Given the description of an element on the screen output the (x, y) to click on. 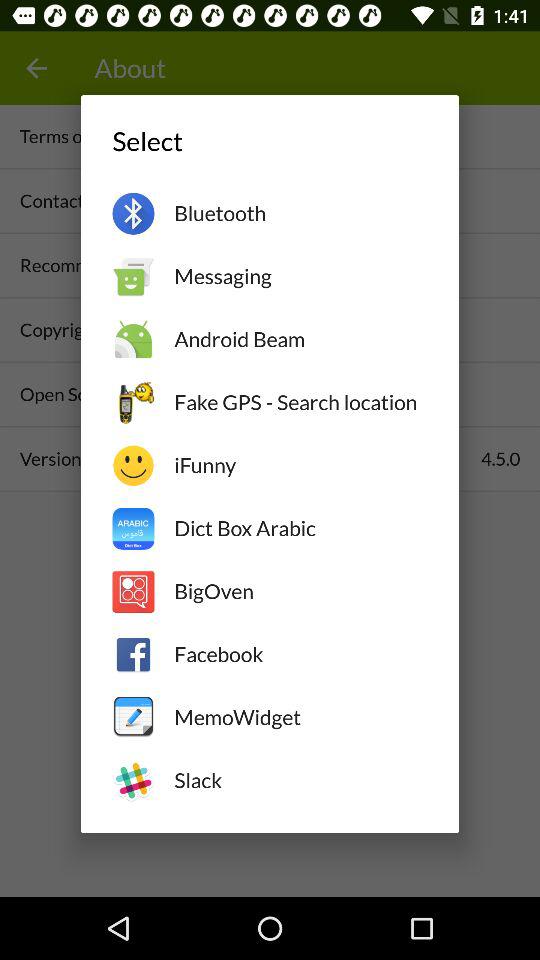
launch fake gps search (300, 402)
